Given the description of an element on the screen output the (x, y) to click on. 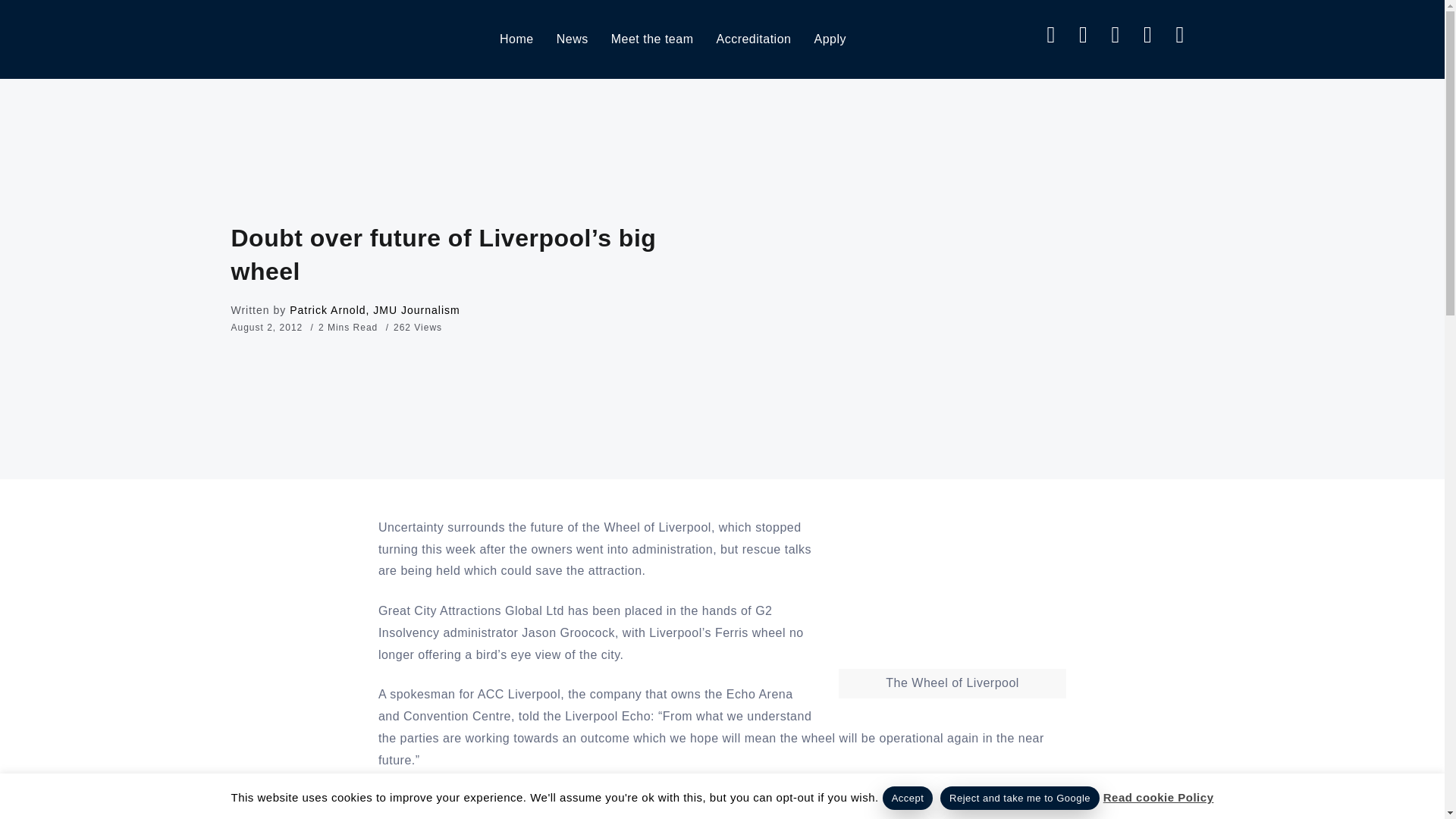
Reject and take me to Google (1019, 797)
Meet the team (652, 39)
JMU Journalism (287, 38)
News (572, 39)
Liverpool's big wheel is rolling (598, 799)
Accreditation (753, 39)
Read cookie Policy (1158, 797)
Home (516, 39)
Apply (829, 39)
Patrick Arnold, JMU Journalism (374, 309)
Accept (907, 797)
